Given the description of an element on the screen output the (x, y) to click on. 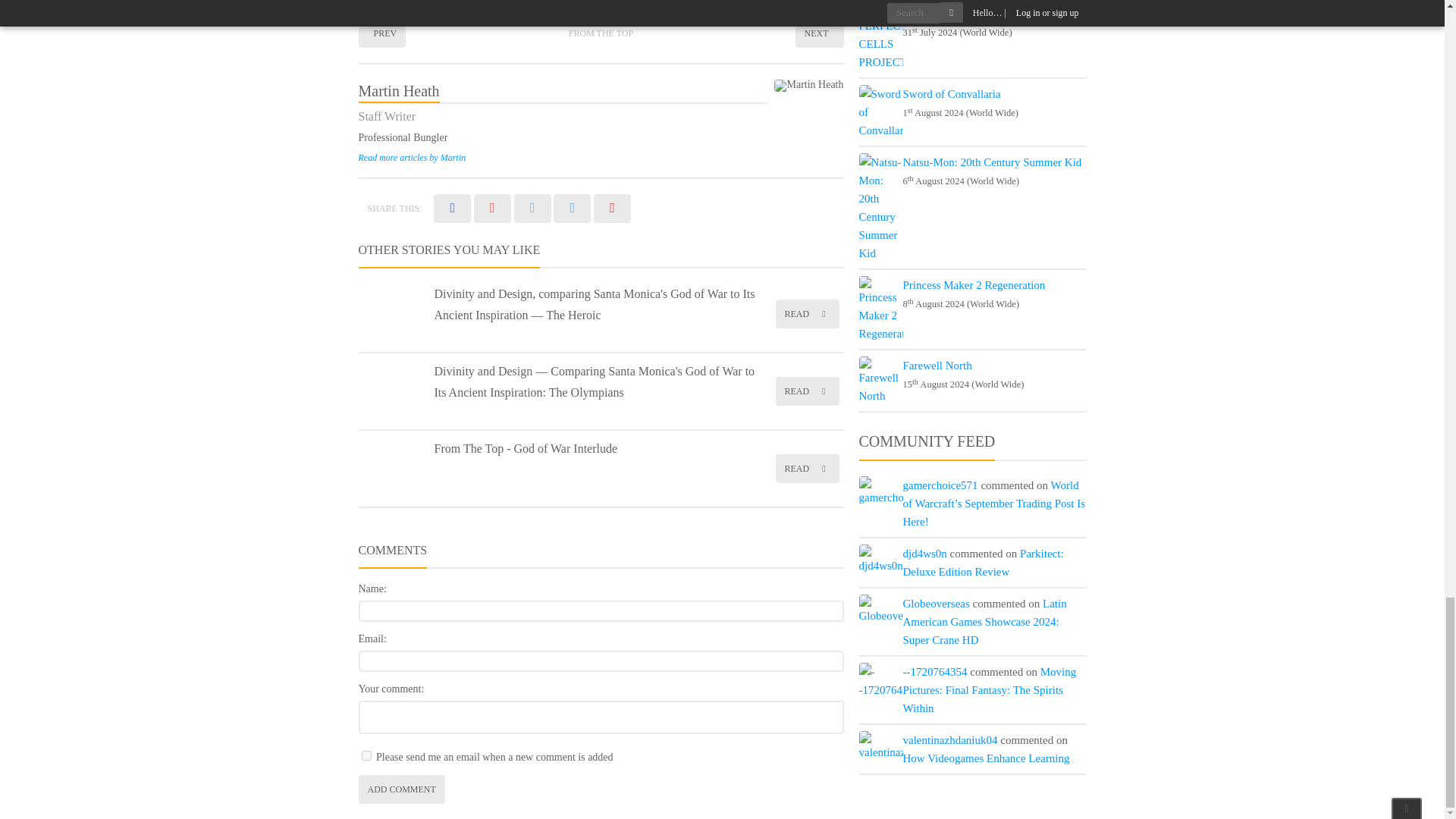
READ (806, 313)
NEXT (818, 32)
PREV (382, 32)
Read more articles by Martin (411, 157)
on (366, 755)
